Given the description of an element on the screen output the (x, y) to click on. 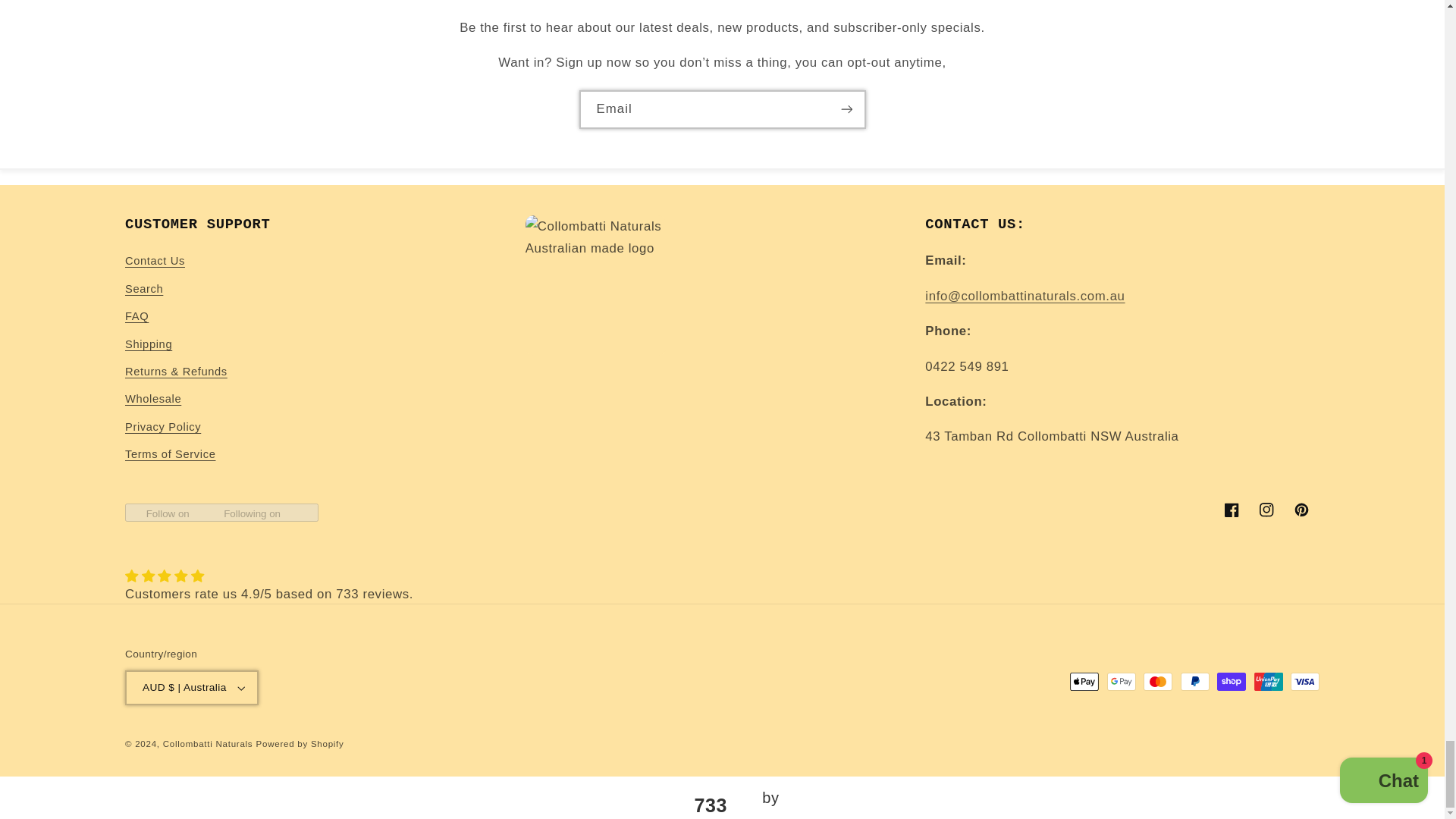
Get In Touch (1024, 296)
